Given the description of an element on the screen output the (x, y) to click on. 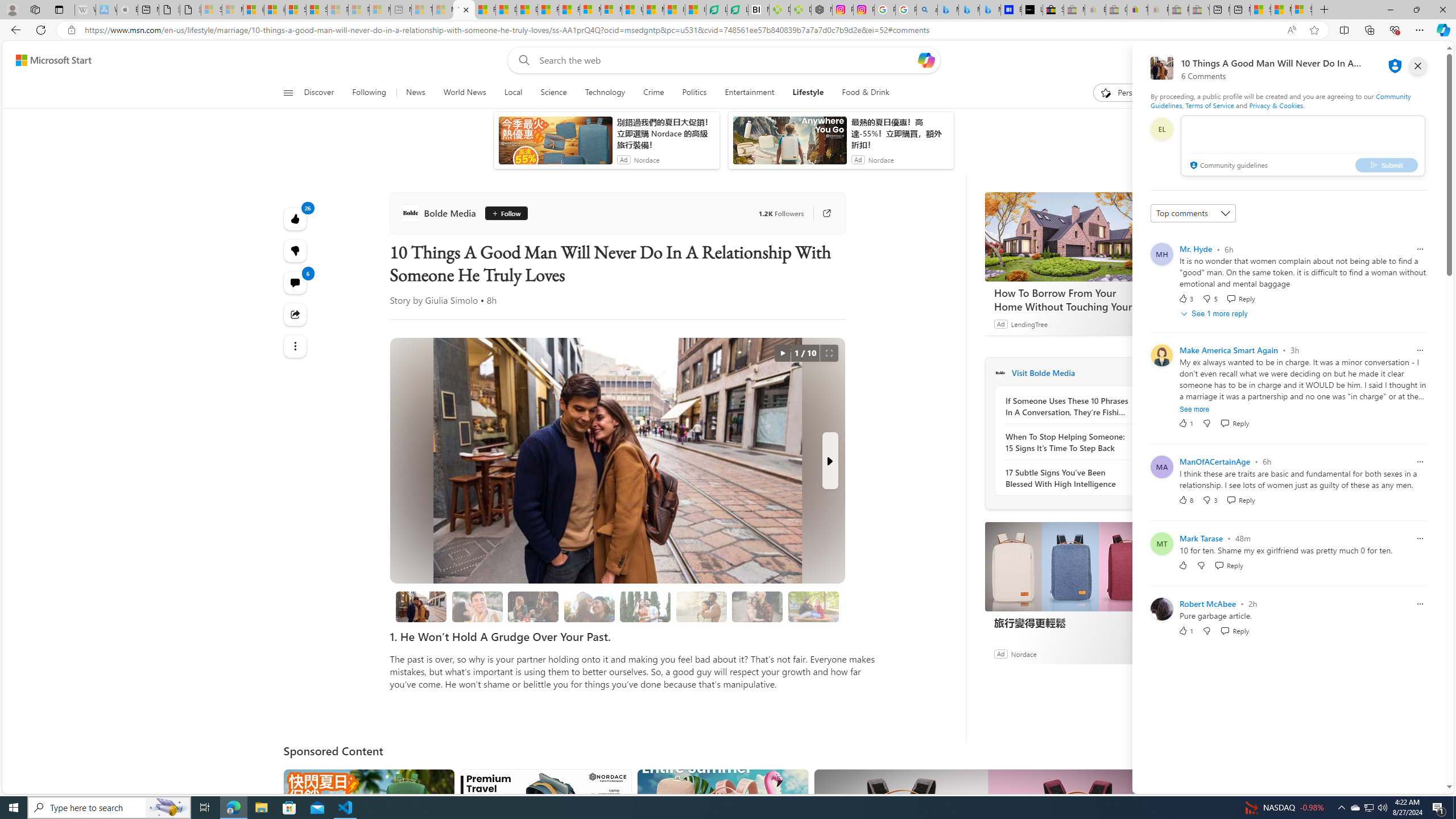
Reply Reply Comment (1234, 630)
Feedback (1402, 784)
Following (368, 92)
26 (295, 250)
Personalize (1128, 92)
Go to publisher's site (820, 213)
How To Borrow From Your Home Without Touching Your Mortgage (1070, 236)
3 Like (1185, 298)
Discover (323, 92)
App bar (728, 29)
Microsoft Services Agreement - Sleeping (231, 9)
Selling on eBay | Electronics, Fashion, Home & Garden | eBay (1053, 9)
